Given the description of an element on the screen output the (x, y) to click on. 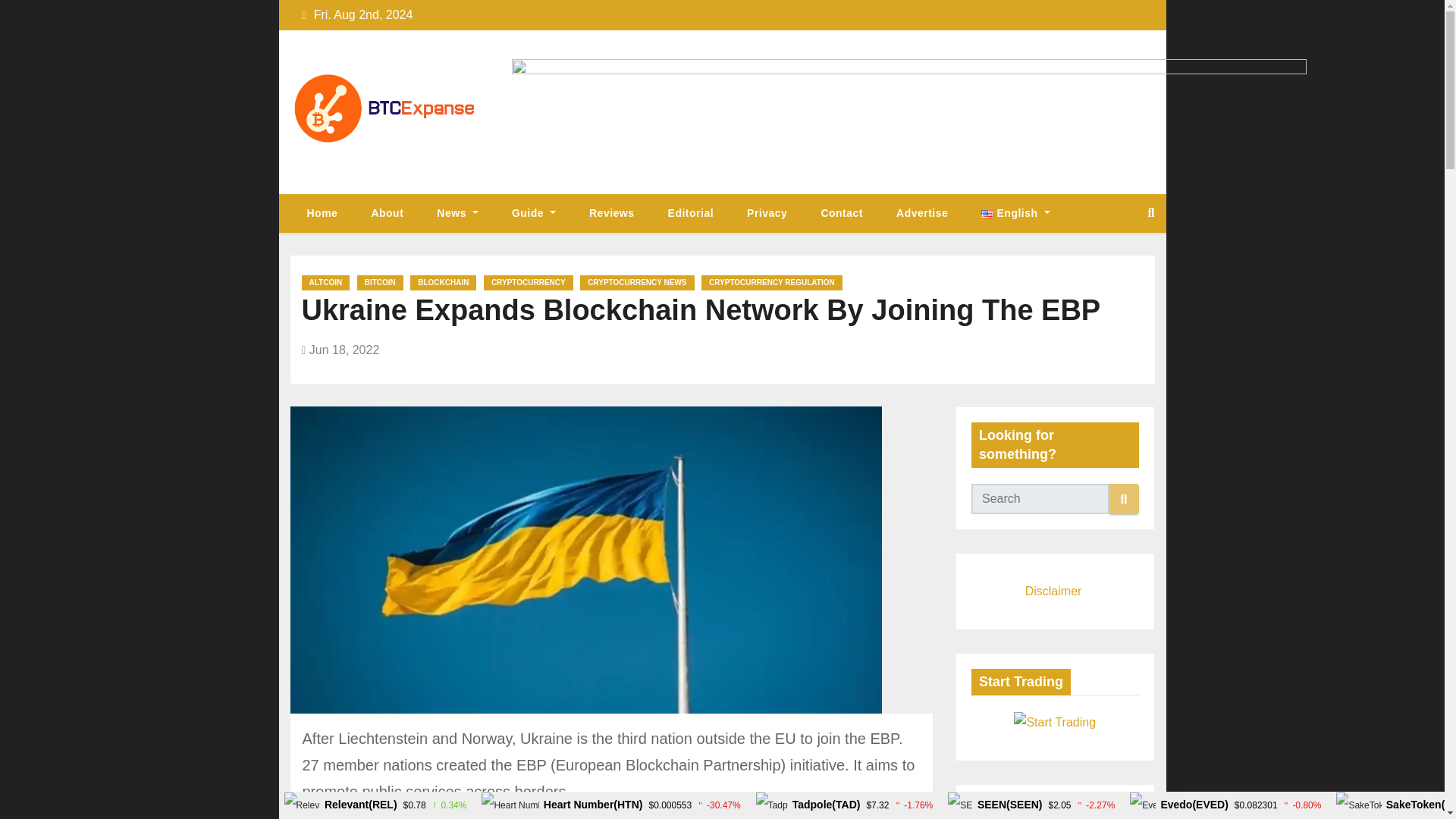
Contact (841, 213)
Advertise (921, 213)
Guide (533, 213)
News (457, 213)
About (386, 213)
Home (321, 213)
Home (321, 213)
News (457, 213)
About (386, 213)
Guide (533, 213)
Privacy (766, 213)
Editorial (690, 213)
Reviews (611, 213)
